Given the description of an element on the screen output the (x, y) to click on. 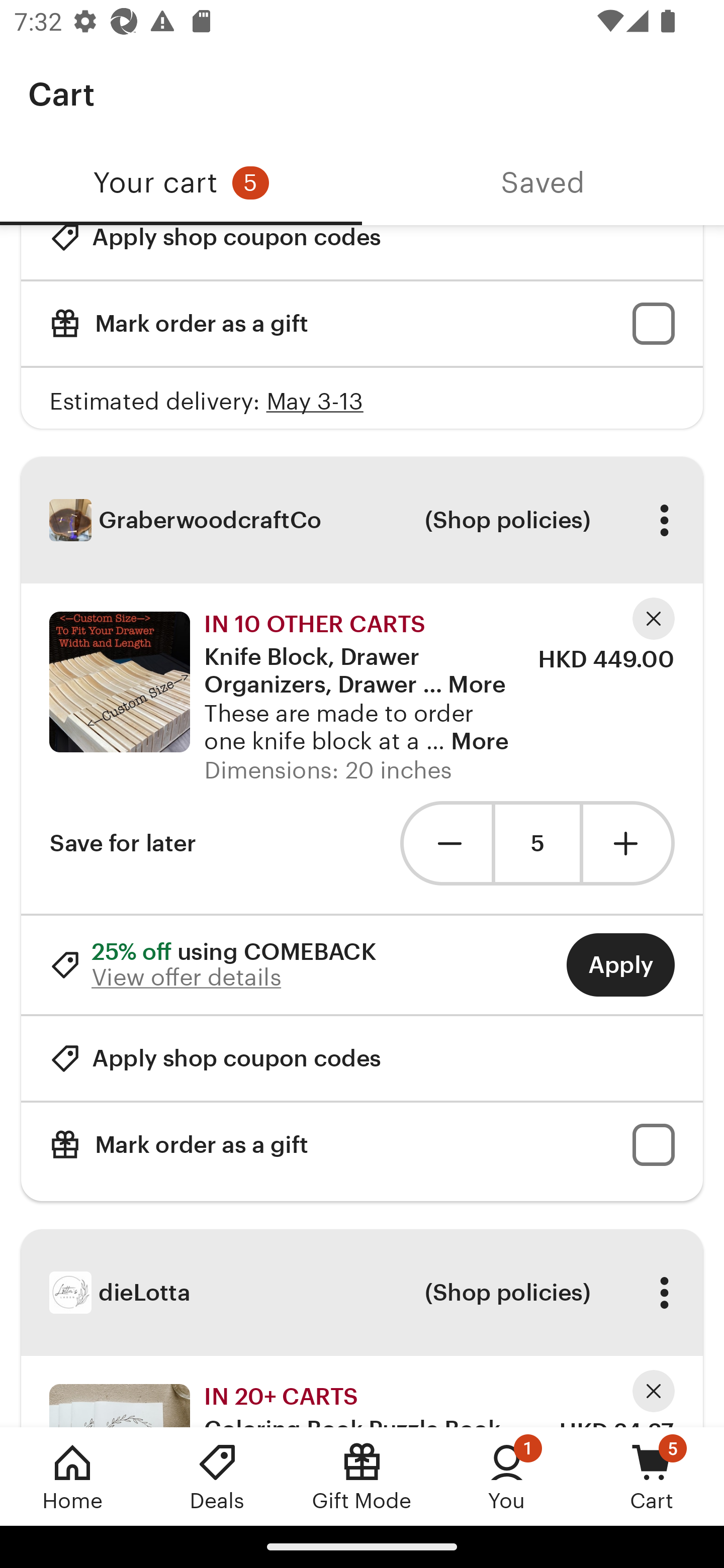
Saved, tab 2 of 2 Saved (543, 183)
Apply shop coupon codes (215, 252)
Mark order as a gift (361, 322)
GraberwoodcraftCo (Shop policies) More options (361, 519)
(Shop policies) (507, 520)
More options (663, 520)
Save for later (122, 843)
Remove one unit from cart (445, 843)
Add one unit to cart (628, 843)
5 (537, 843)
25% off using COMEBACK View offer details Apply (361, 963)
Apply (620, 963)
Apply shop coupon codes (215, 1058)
Mark order as a gift (361, 1144)
dieLotta (Shop policies) More options (361, 1292)
(Shop policies) (507, 1291)
More options (663, 1291)
Home (72, 1475)
Deals (216, 1475)
Gift Mode (361, 1475)
You, 1 new notification You (506, 1475)
